Given the description of an element on the screen output the (x, y) to click on. 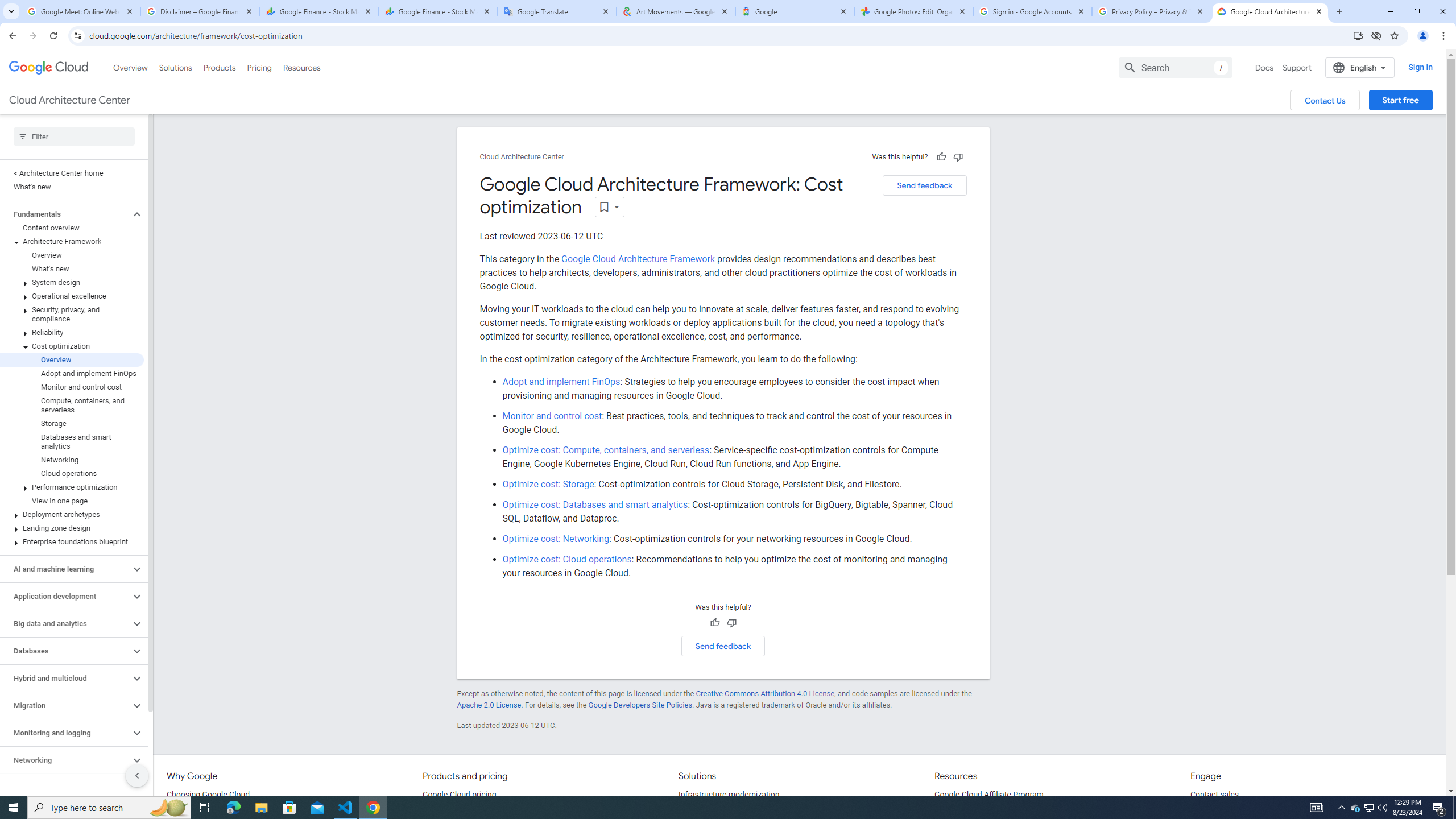
Fundamentals (64, 214)
Cloud operations (72, 473)
Application development (64, 596)
Migration (64, 705)
Reliability and disaster recovery (64, 787)
Type to filter (74, 136)
Big data and analytics (64, 623)
What's new (72, 269)
Products (218, 67)
Apache 2.0 License (489, 705)
Install Google Cloud (1358, 35)
Contact Us (1324, 100)
